Given the description of an element on the screen output the (x, y) to click on. 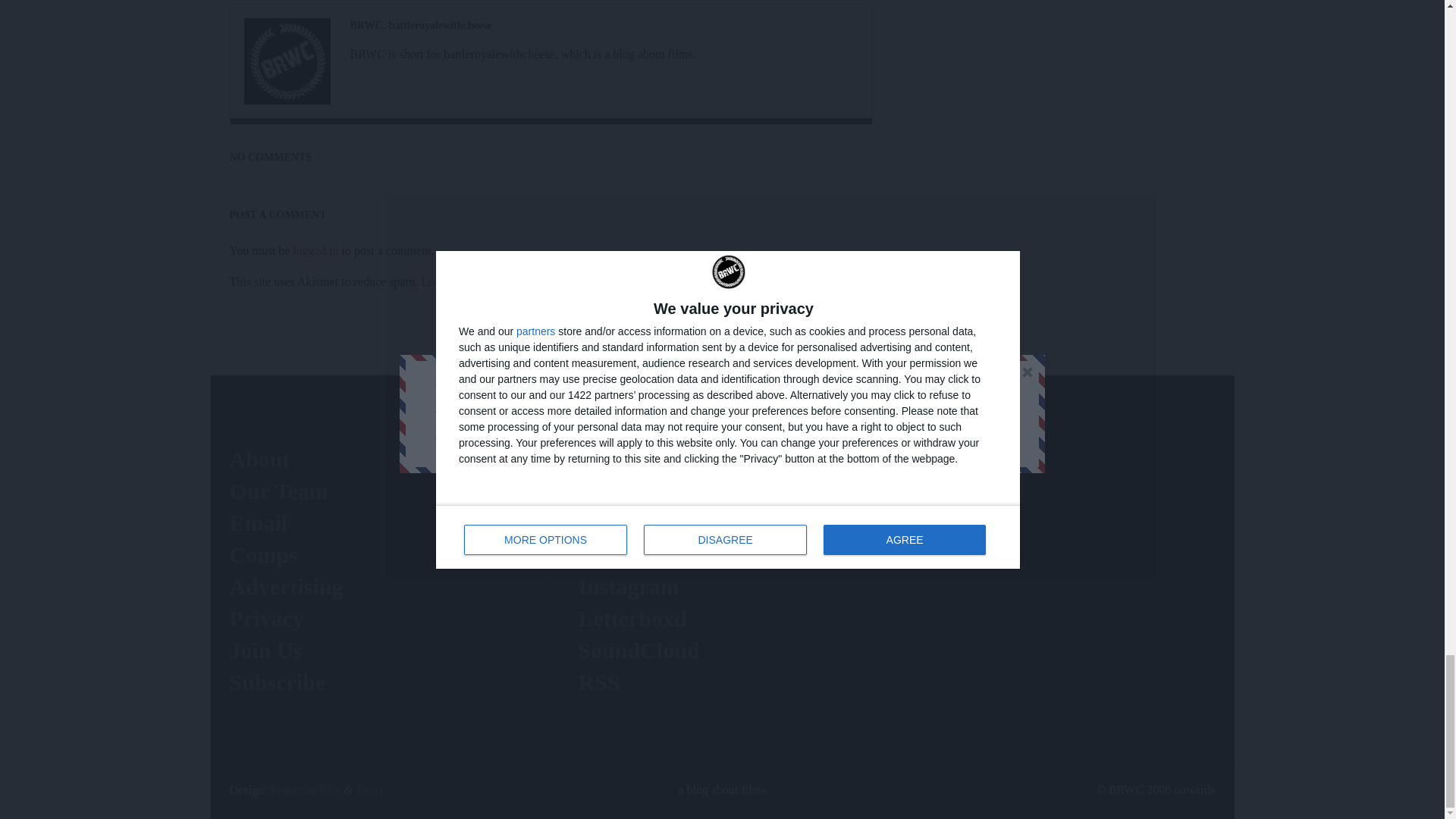
Six Rounds: Review (421, 25)
Six Rounds: Review (287, 61)
